Given the description of an element on the screen output the (x, y) to click on. 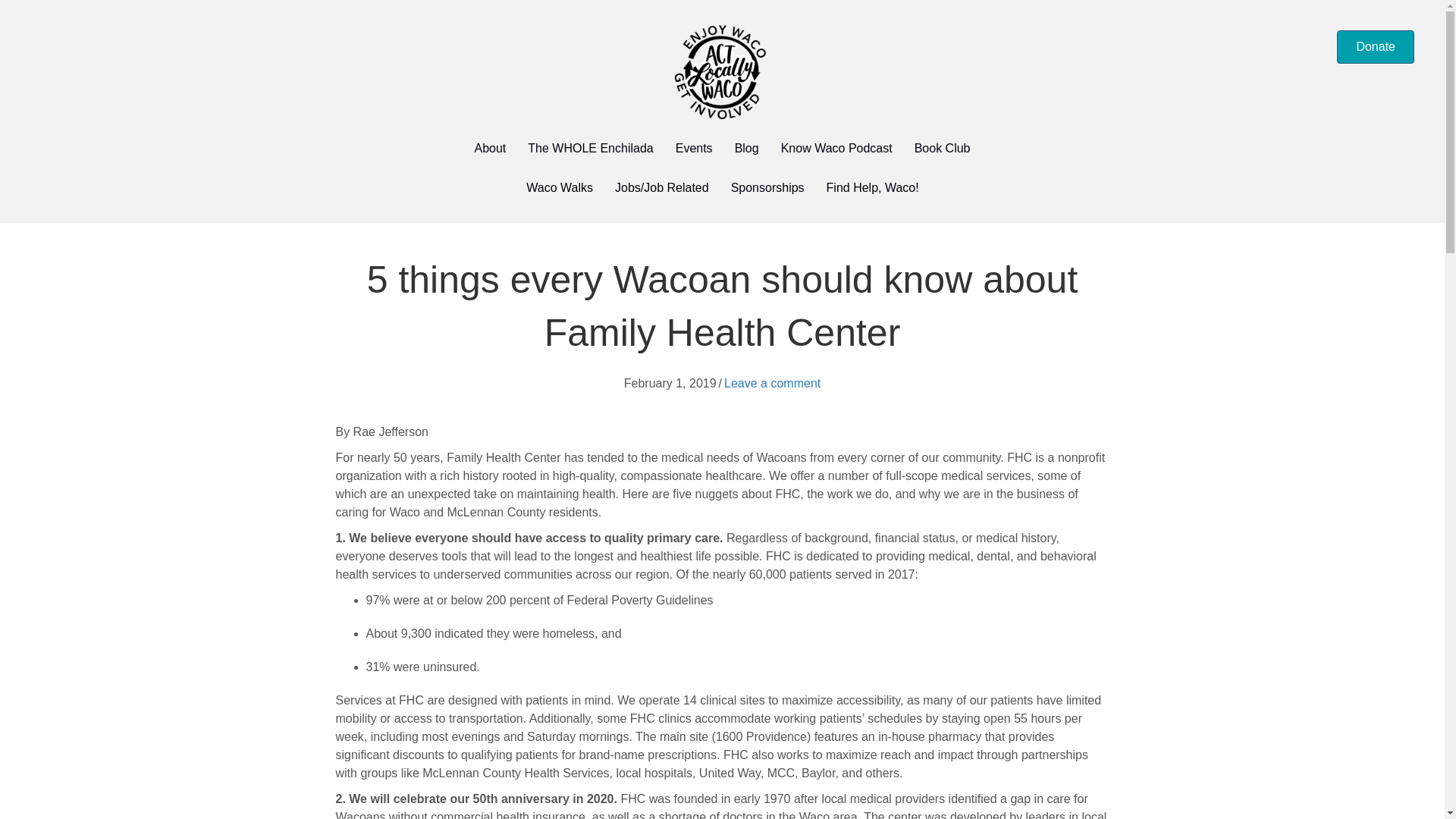
Blog (746, 148)
Waco Walks (559, 188)
Donate (1374, 46)
Sponsorships (767, 188)
Know Waco Podcast (836, 148)
About (489, 148)
The WHOLE Enchilada (589, 148)
Leave a comment (772, 382)
Find Help, Waco! (872, 188)
Events (694, 148)
Book Club (942, 148)
